Given the description of an element on the screen output the (x, y) to click on. 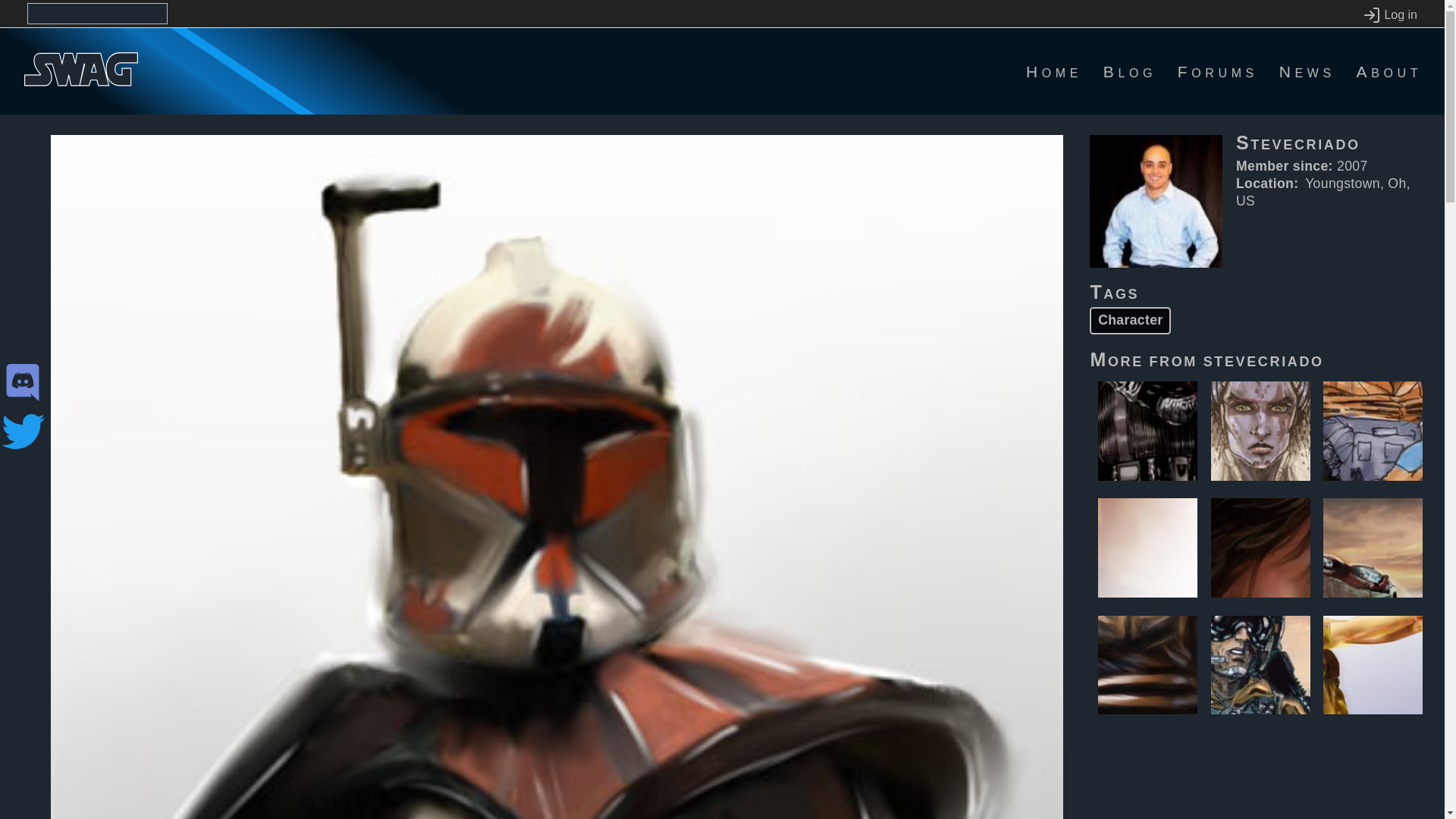
Forums (1217, 71)
News (1307, 71)
About (1389, 71)
Enter the terms you wish to search for. (97, 13)
View user profile. (1263, 359)
Home (1053, 71)
Blog (1129, 71)
Log in (1389, 14)
